Given the description of an element on the screen output the (x, y) to click on. 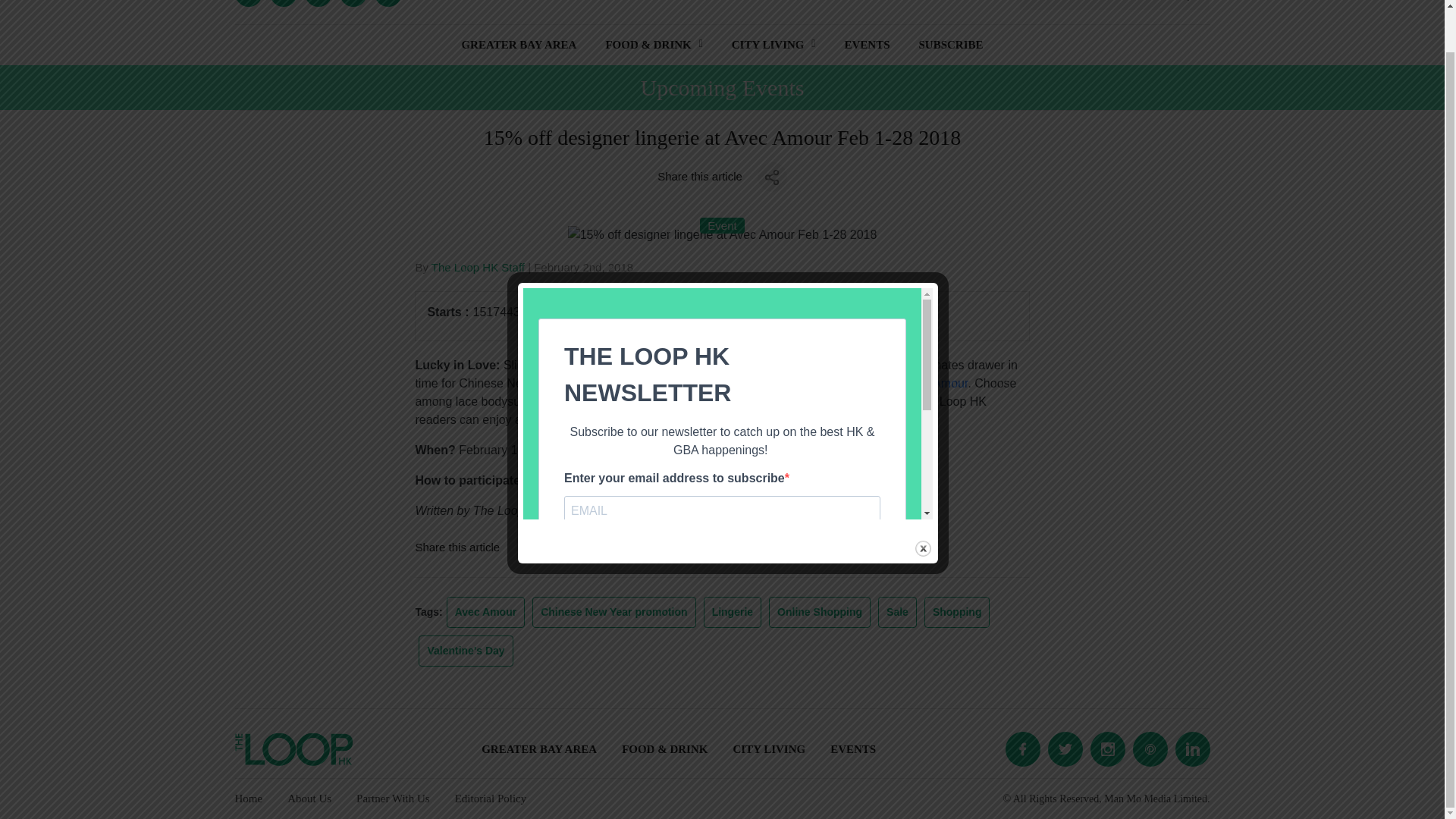
EVENTS (852, 748)
Close (923, 503)
Avec Amour (935, 382)
Online Shopping (820, 611)
Sale (897, 611)
Event (721, 225)
Chinese New Year promotion (613, 611)
Avec Amour (485, 611)
The Loop HK Staff (477, 267)
Shopping (957, 611)
Valentine's Day (465, 650)
CITY LIVING (768, 45)
SUBSCRIBE (951, 45)
CITY LIVING (768, 748)
GREATER BAY AREA (518, 45)
